Given the description of an element on the screen output the (x, y) to click on. 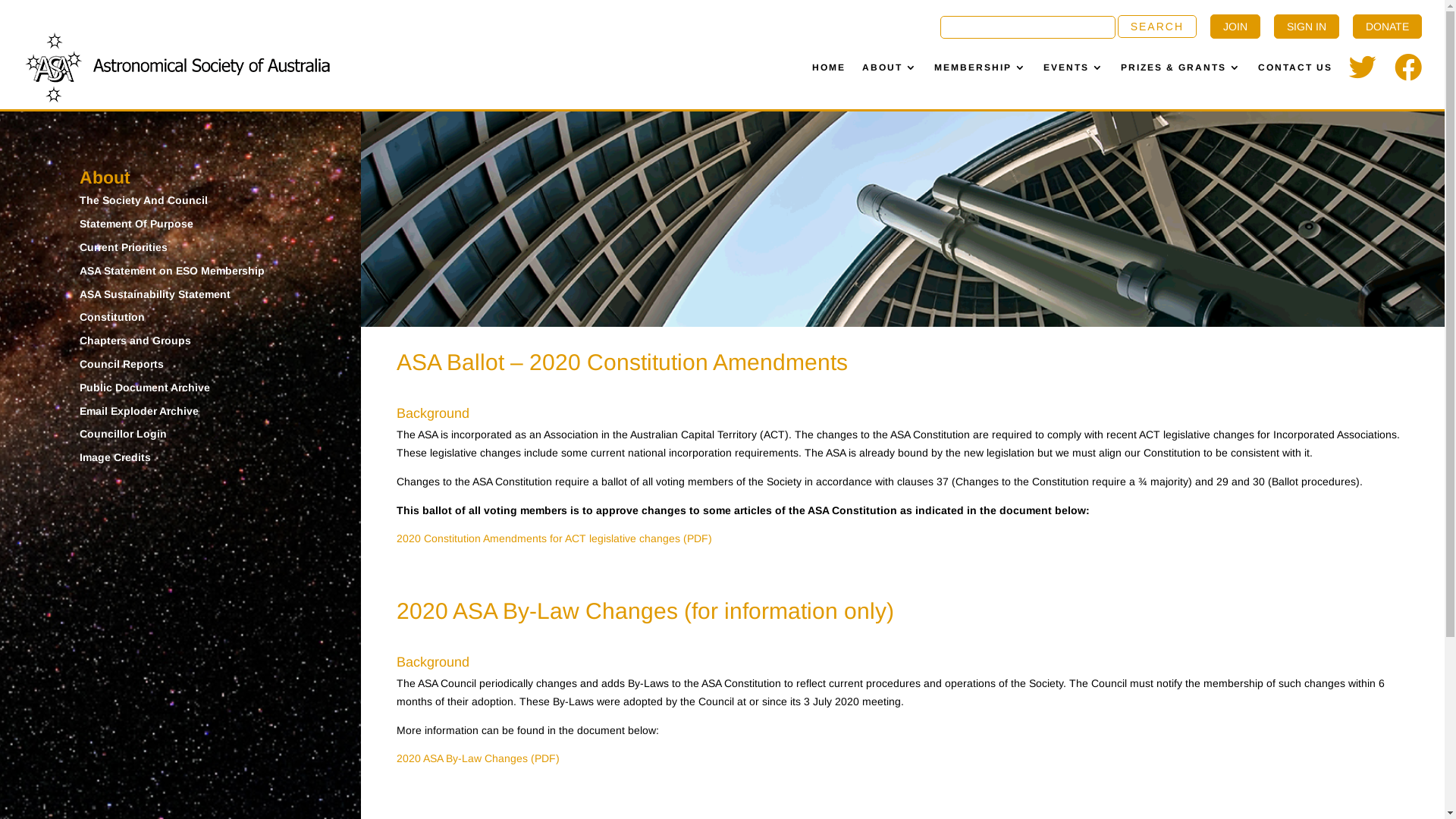
Search for: Element type: text (1068, 30)
Statement Of Purpose Element type: text (136, 223)
Chapters and Groups Element type: text (135, 340)
Council Reports Element type: text (121, 363)
PRIZES & GRANTS Element type: text (1180, 67)
MEMBERSHIP Element type: text (980, 67)
Councillor Login Element type: text (122, 433)
Image Credits Element type: text (114, 457)
Constitution Element type: text (111, 316)
HOME Element type: text (828, 67)
ASA Statement on ESO Membership Element type: text (171, 270)
DONATE Element type: text (1386, 26)
The Society And Council Element type: text (143, 200)
JOIN Element type: text (1235, 26)
Public Document Archive Element type: text (144, 387)
ABOUT Element type: text (889, 67)
CONTACT US Element type: text (1295, 67)
EVENTS Element type: text (1073, 67)
ASA Sustainability Statement Element type: text (154, 294)
SIGN IN Element type: text (1306, 26)
Current Priorities Element type: text (123, 247)
Search Element type: text (1156, 26)
Email Exploder Archive Element type: text (138, 410)
2020 ASA By-Law Changes (PDF) Element type: text (477, 758)
